Given the description of an element on the screen output the (x, y) to click on. 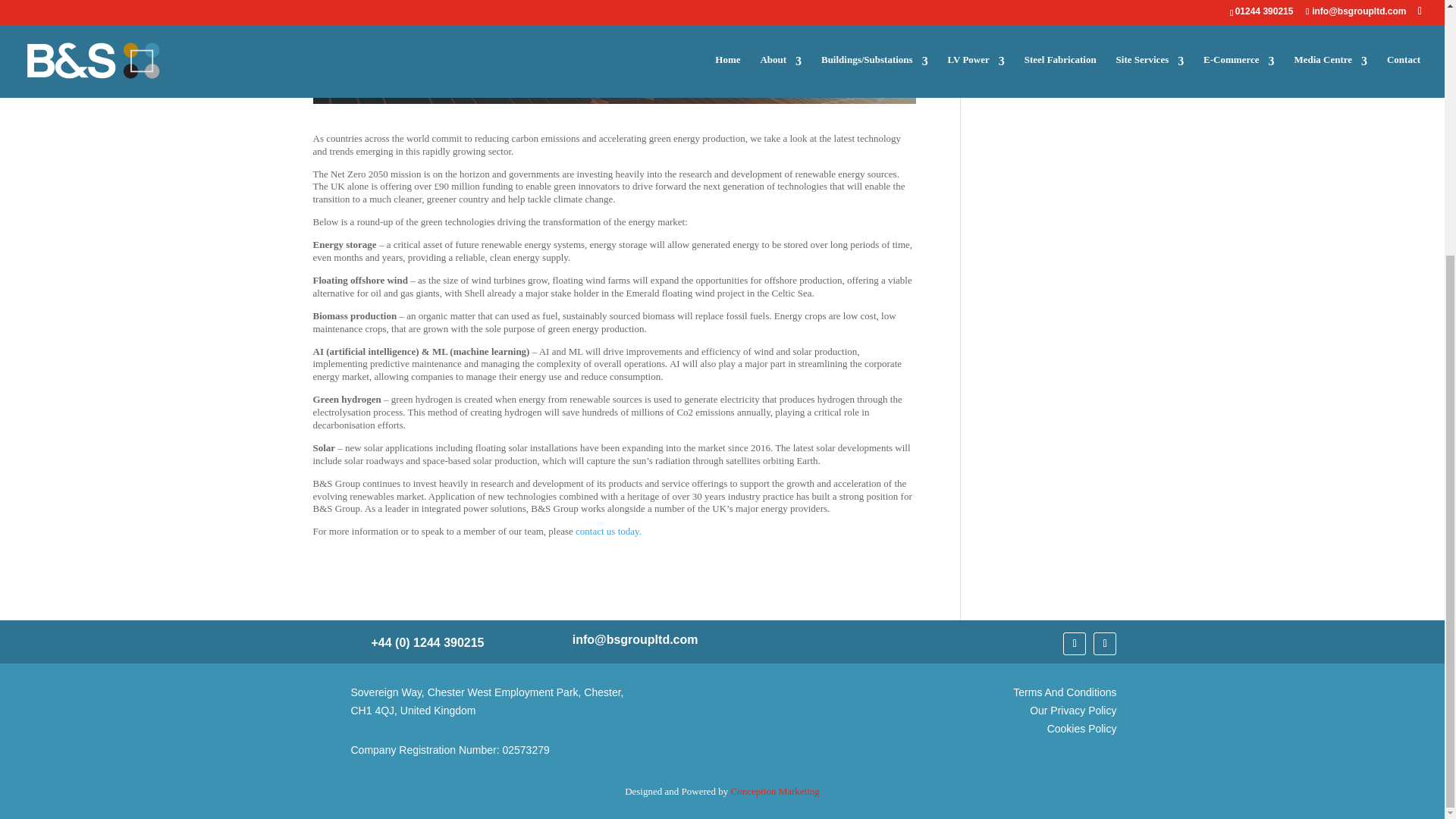
Follow on LinkedIn (1104, 643)
Follow on X (1074, 643)
contact us today. (608, 531)
